Given the description of an element on the screen output the (x, y) to click on. 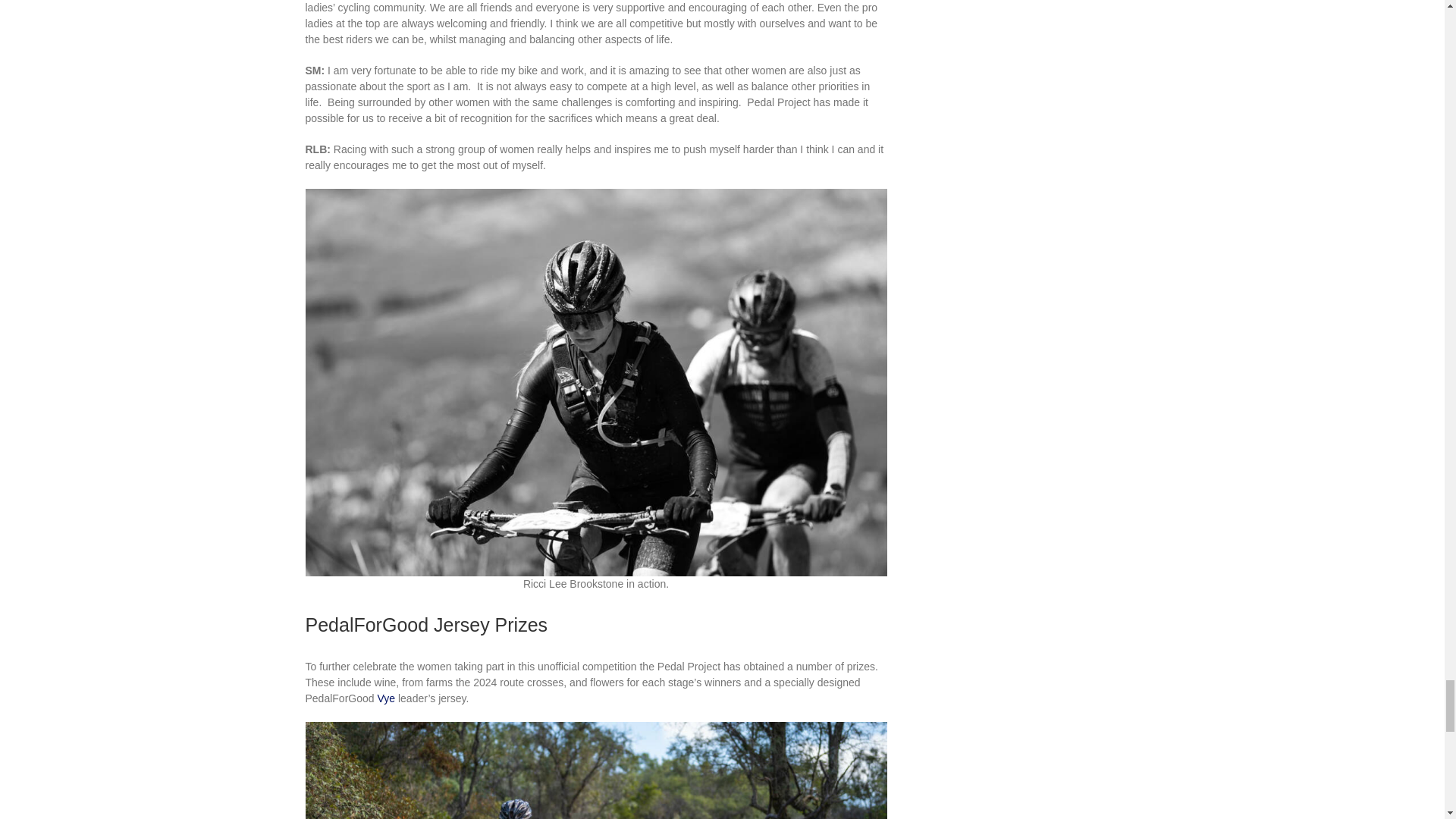
Vye (385, 698)
